Given the description of an element on the screen output the (x, y) to click on. 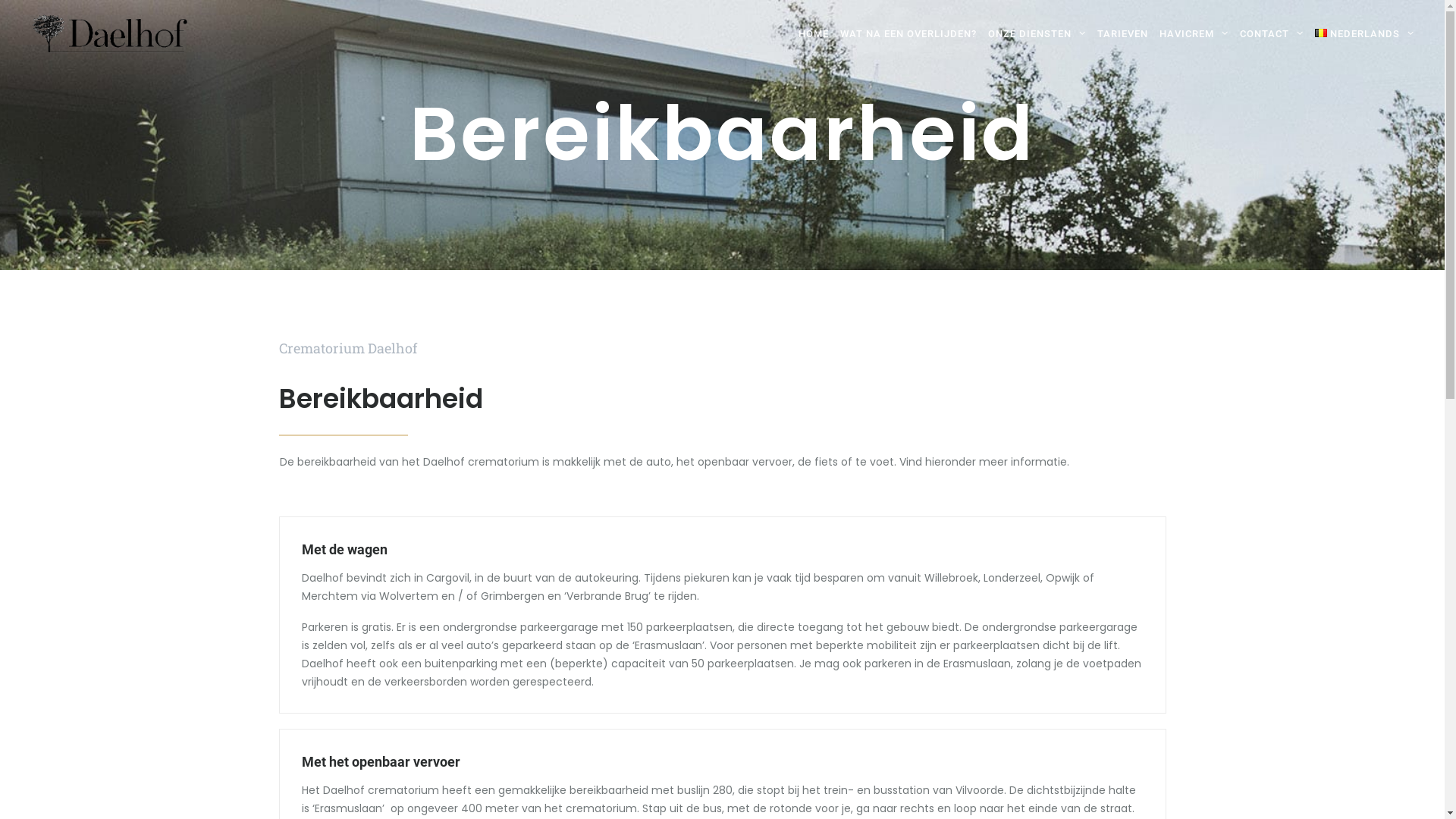
EN Element type: text (716, 776)
ONZE DIENSTEN Element type: text (1037, 34)
FR Element type: text (695, 776)
Crematorium Daelhof Element type: hover (109, 34)
NEDERLANDS Element type: text (1361, 34)
ABOVESECOND  Element type: text (465, 776)
HAVICREM Element type: text (1194, 34)
WAT NA EEN OVERLIJDEN? Element type: text (908, 34)
NL Element type: text (675, 776)
TARIEVEN Element type: text (1123, 34)
CONTACT Element type: text (1271, 34)
HOME Element type: text (813, 34)
Privacy Policy Element type: text (550, 776)
